Given the description of an element on the screen output the (x, y) to click on. 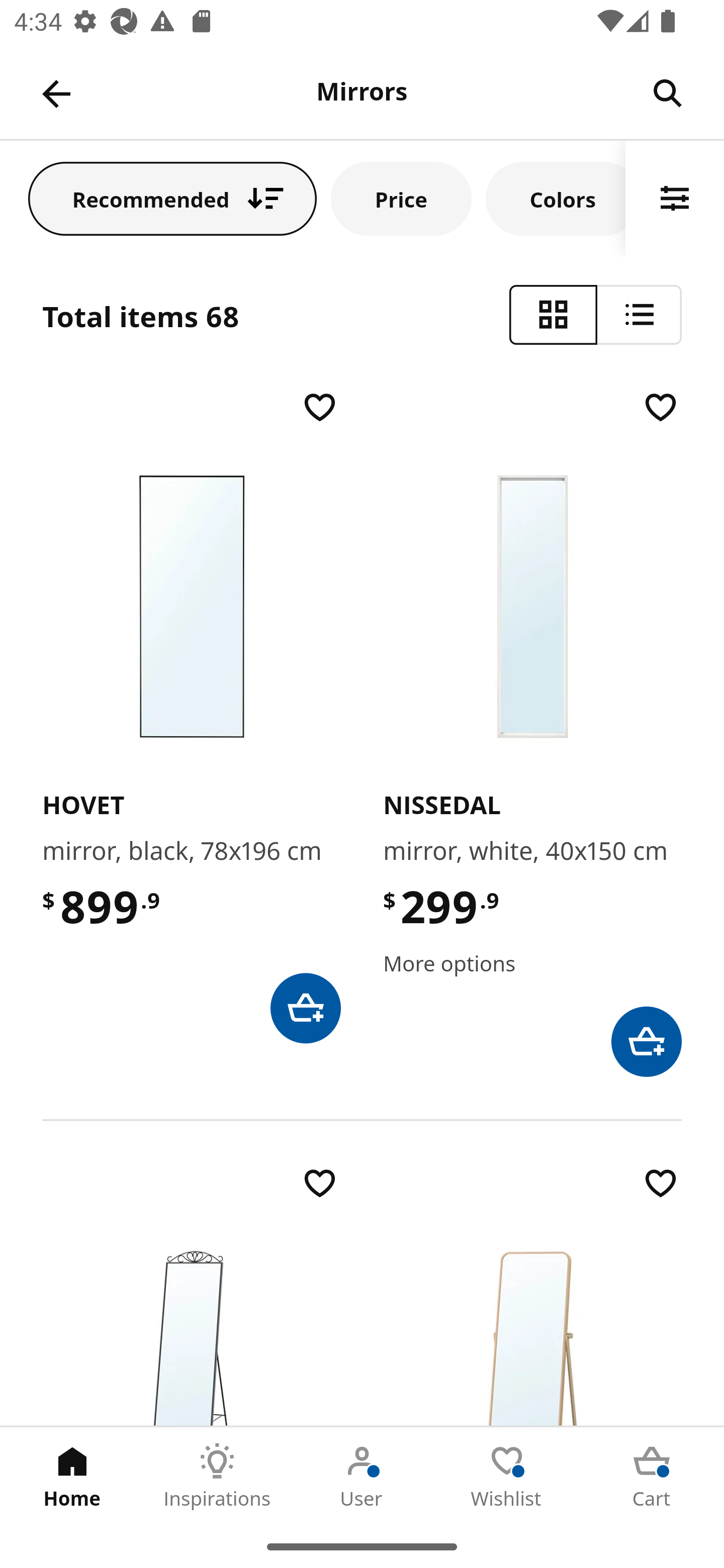
Recommended (172, 198)
Price (400, 198)
Colors (555, 198)
​H​O​V​E​T​
mirror, black, 78x196 cm
$
899
.9 (191, 714)
Home
Tab 1 of 5 (72, 1476)
Inspirations
Tab 2 of 5 (216, 1476)
